Given the description of an element on the screen output the (x, y) to click on. 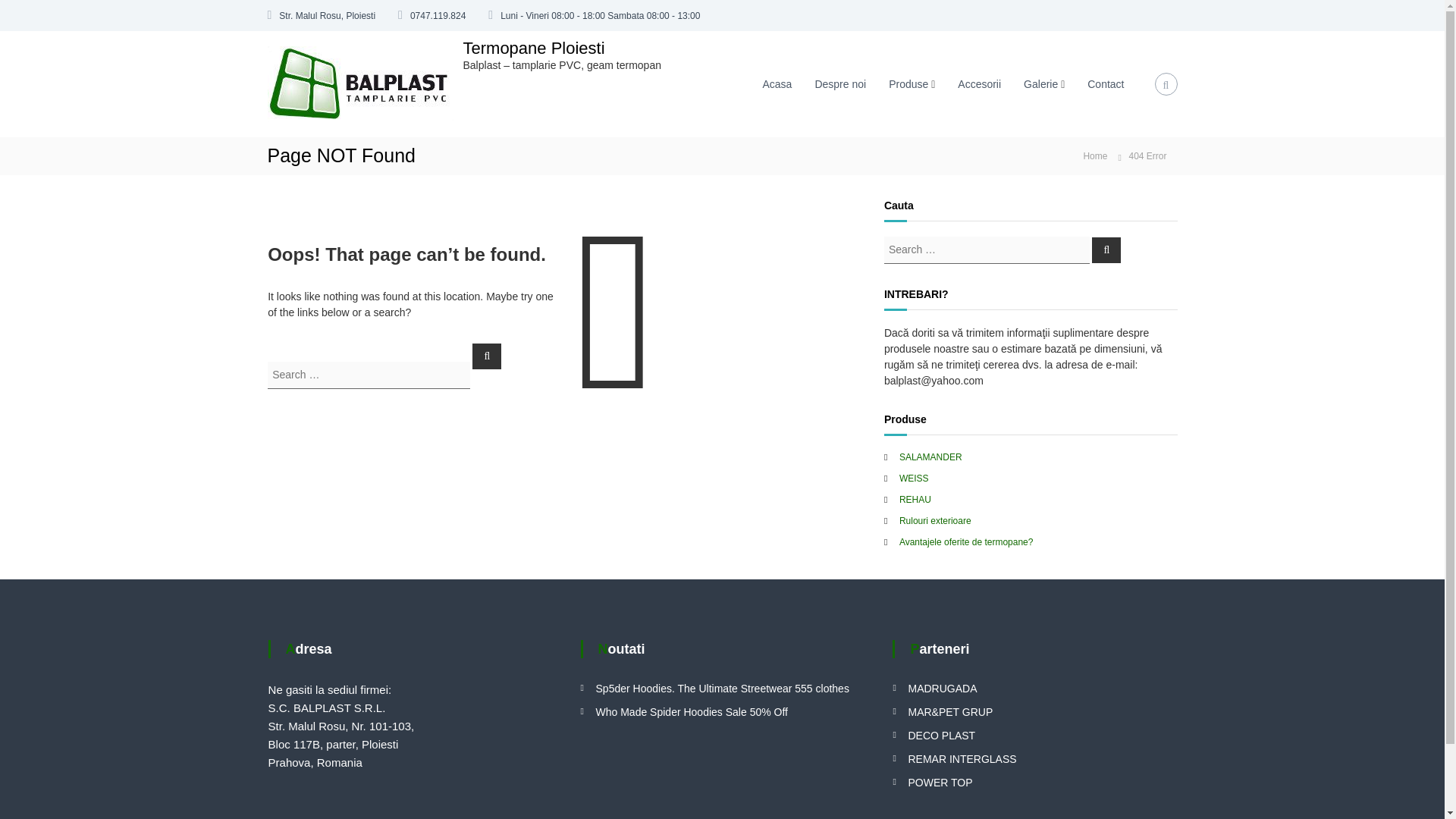
Rulouri exterioare (935, 520)
Search (1106, 249)
Avantajele oferite de termopane? (966, 542)
SALAMANDER (930, 457)
Galerie (1040, 82)
REHAU (915, 499)
POWER TOP (939, 782)
Sp5der Hoodies. The Ultimate Streetwear 555 clothes (721, 688)
Contact (1105, 82)
Acasa (777, 82)
Search (485, 355)
WEISS (913, 478)
Home (1094, 155)
DECO PLAST (941, 735)
Home (1094, 155)
